Given the description of an element on the screen output the (x, y) to click on. 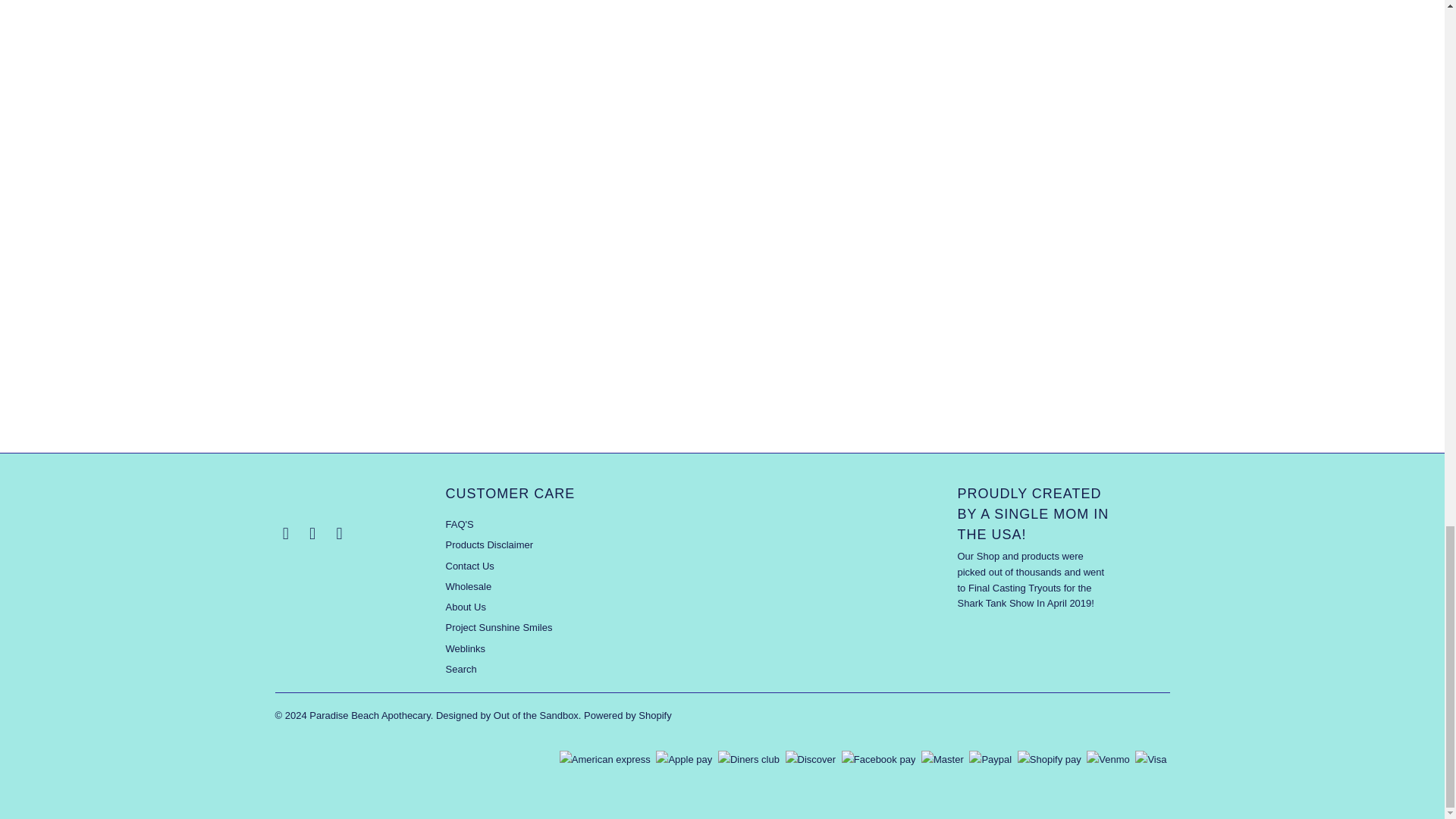
Paradise Beach Apothecary on Instagram (339, 533)
Paradise Beach Apothecary on Facebook (286, 533)
Paradise Beach Apothecary on Pinterest (312, 533)
Turbo Shopify Theme by Out of the Sandbox (506, 715)
